Given the description of an element on the screen output the (x, y) to click on. 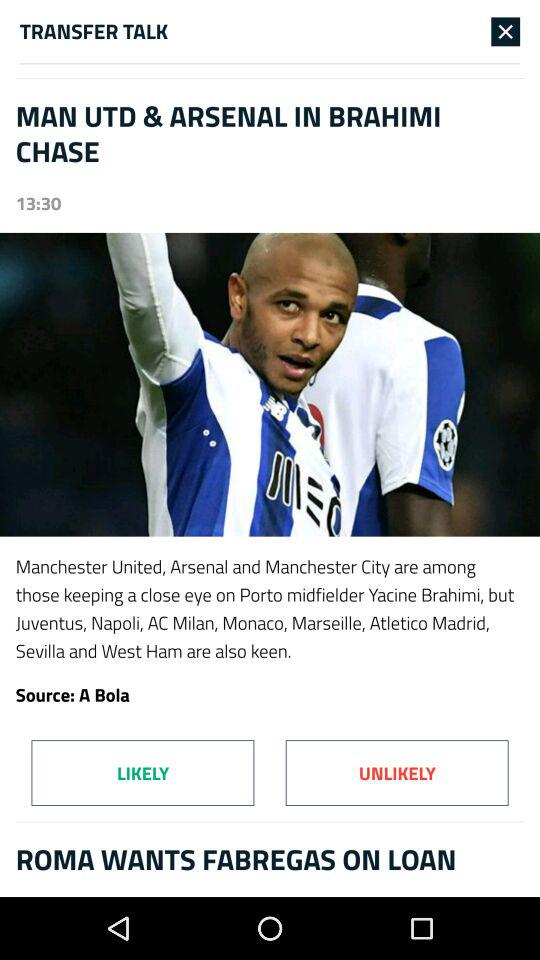
launch the likely icon (142, 772)
